Given the description of an element on the screen output the (x, y) to click on. 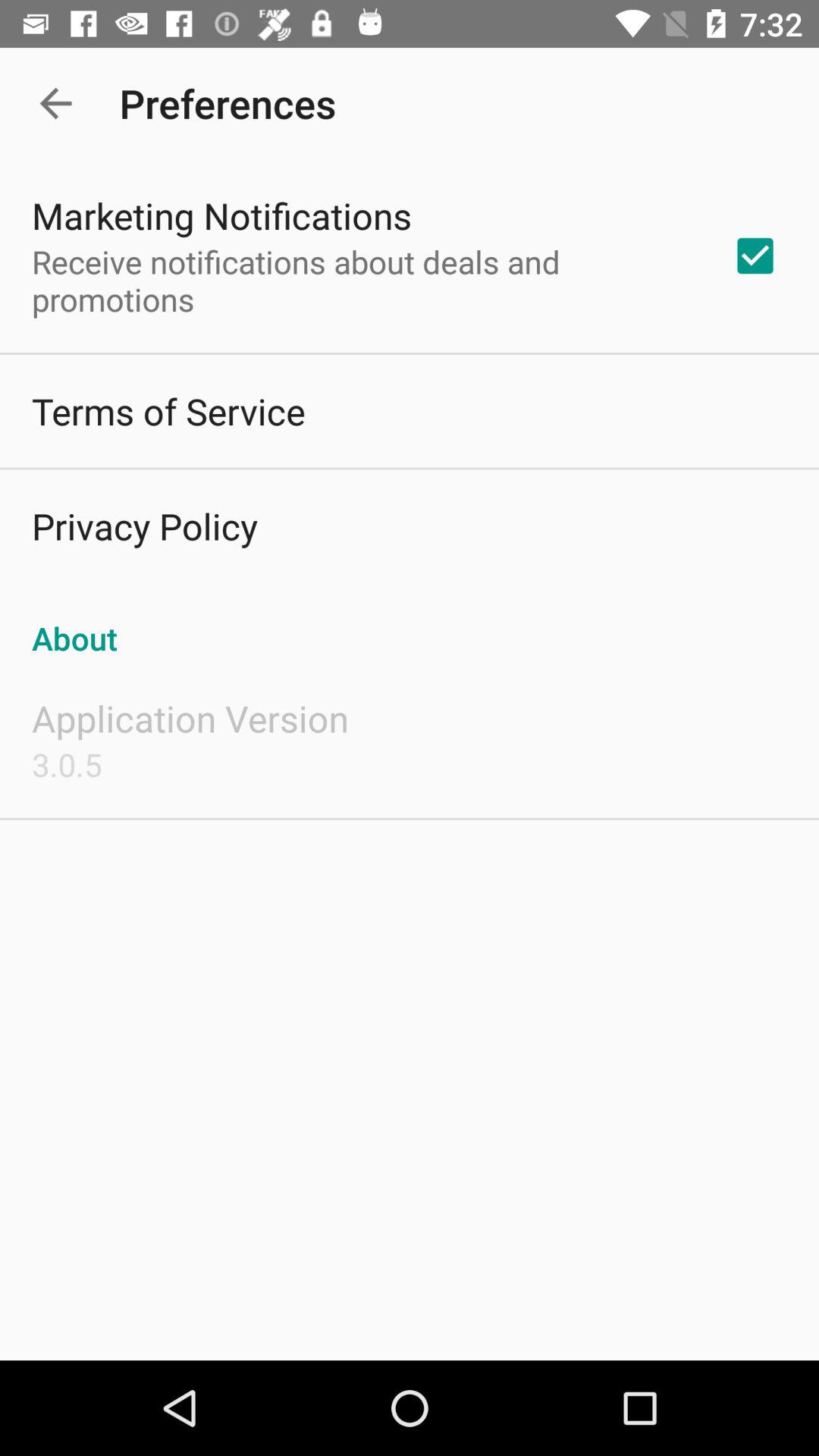
flip to receive notifications about (361, 280)
